Given the description of an element on the screen output the (x, y) to click on. 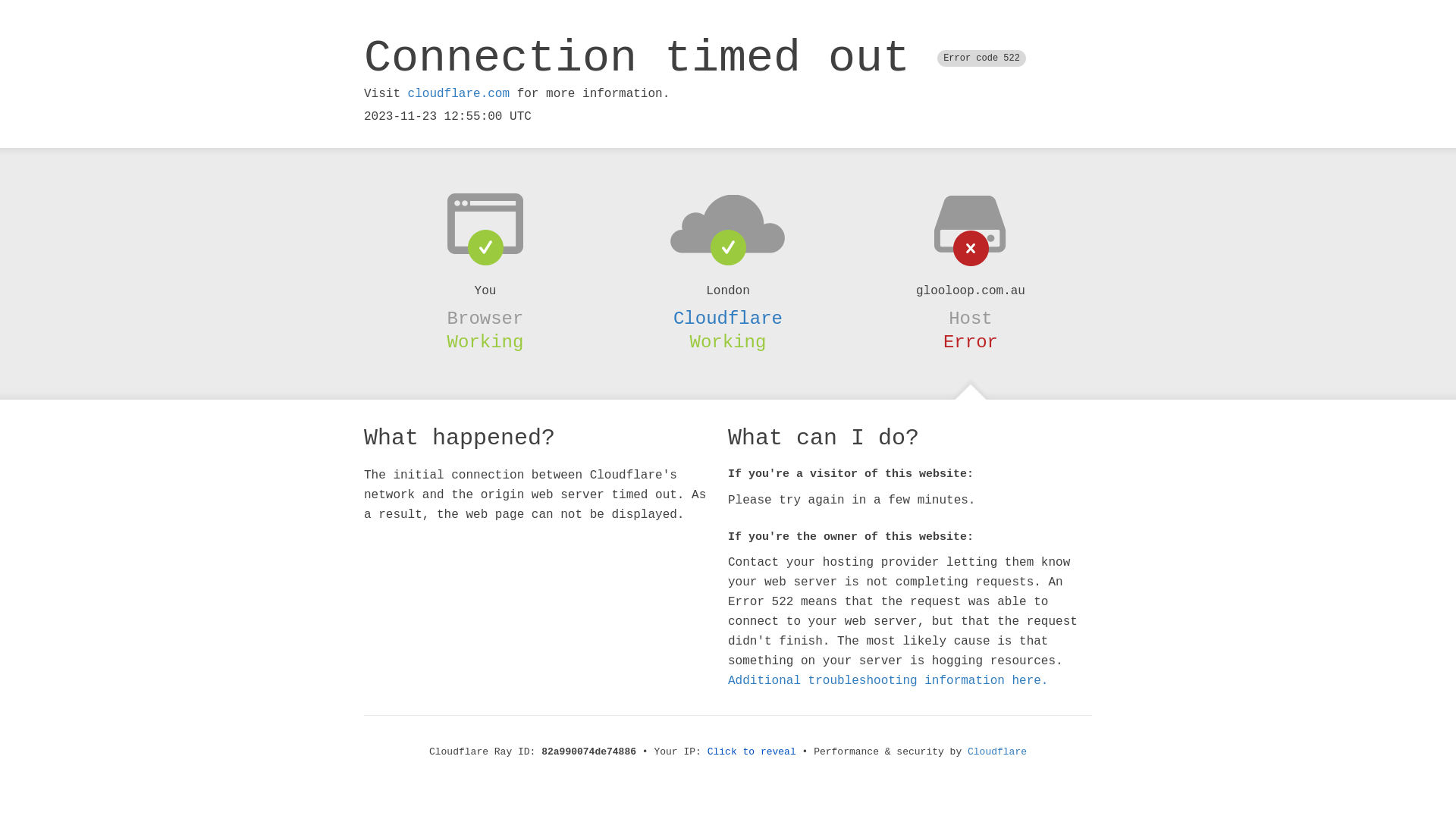
Additional troubleshooting information here. Element type: text (888, 680)
Click to reveal Element type: text (751, 751)
Cloudflare Element type: text (727, 318)
Cloudflare Element type: text (996, 751)
cloudflare.com Element type: text (458, 93)
